Given the description of an element on the screen output the (x, y) to click on. 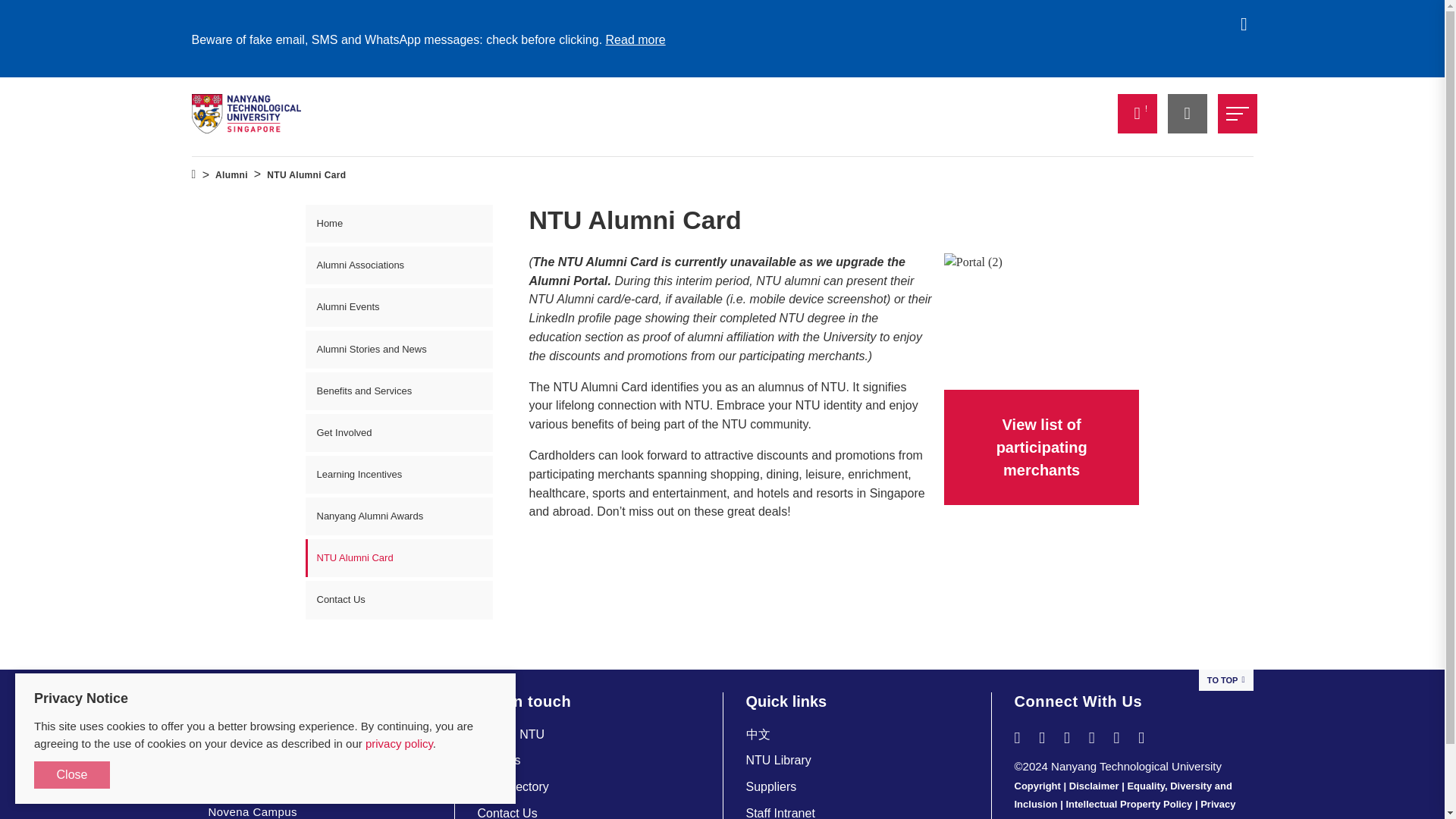
TO TOP (1225, 680)
Nanyang Technological University (245, 113)
Alumni (231, 175)
Close (71, 774)
privacy policy (398, 743)
Read more (635, 39)
